Given the description of an element on the screen output the (x, y) to click on. 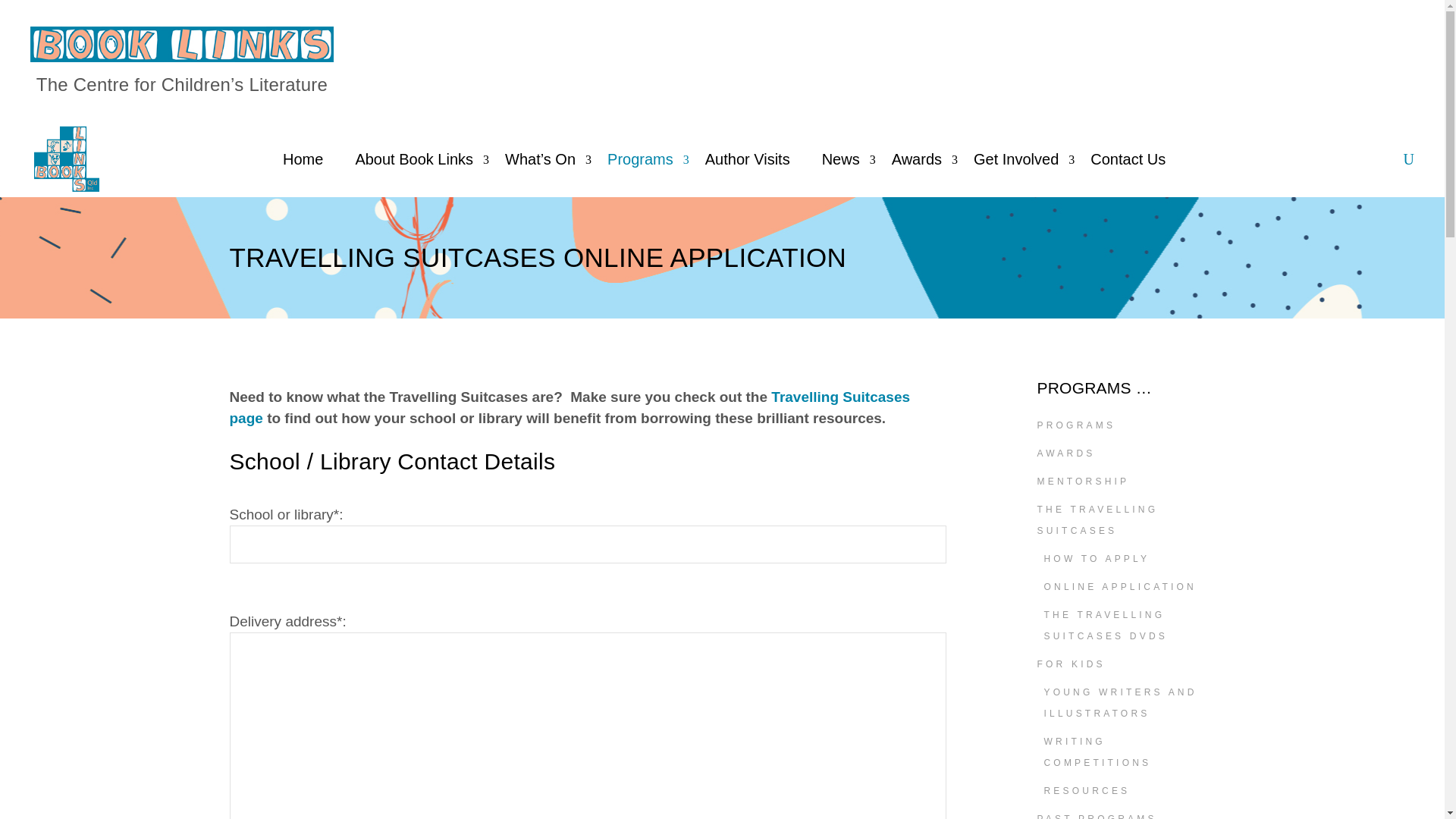
Programs (639, 159)
About Book Links (414, 159)
Home (302, 159)
